Given the description of an element on the screen output the (x, y) to click on. 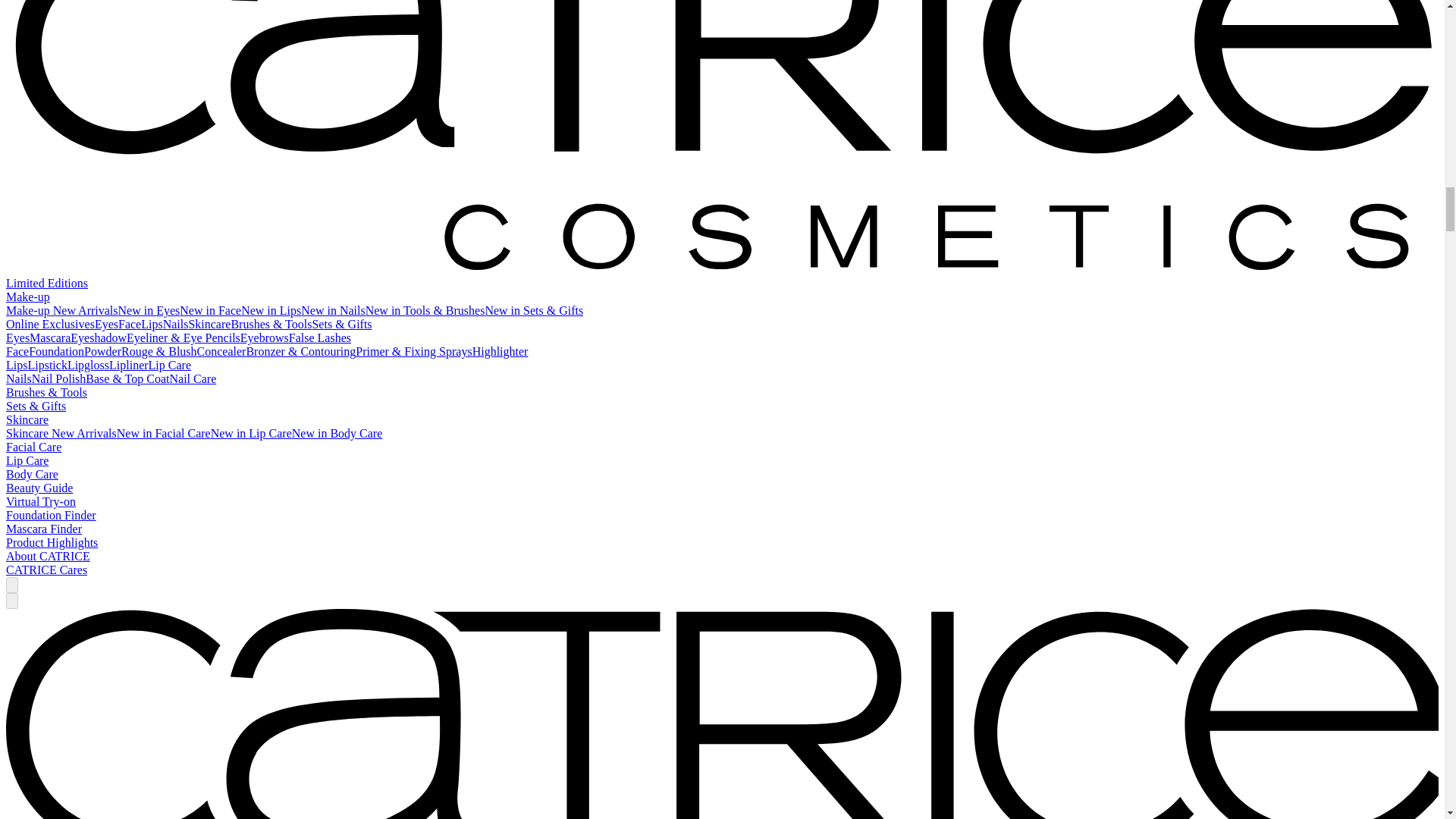
Powder (102, 350)
New in Lips (271, 309)
Eyeshadow (97, 337)
Foundation (56, 350)
New in Face (210, 309)
Face (129, 323)
New in Nails (333, 309)
Nails (176, 323)
Highlighter (499, 350)
New in Eyes (148, 309)
